Given the description of an element on the screen output the (x, y) to click on. 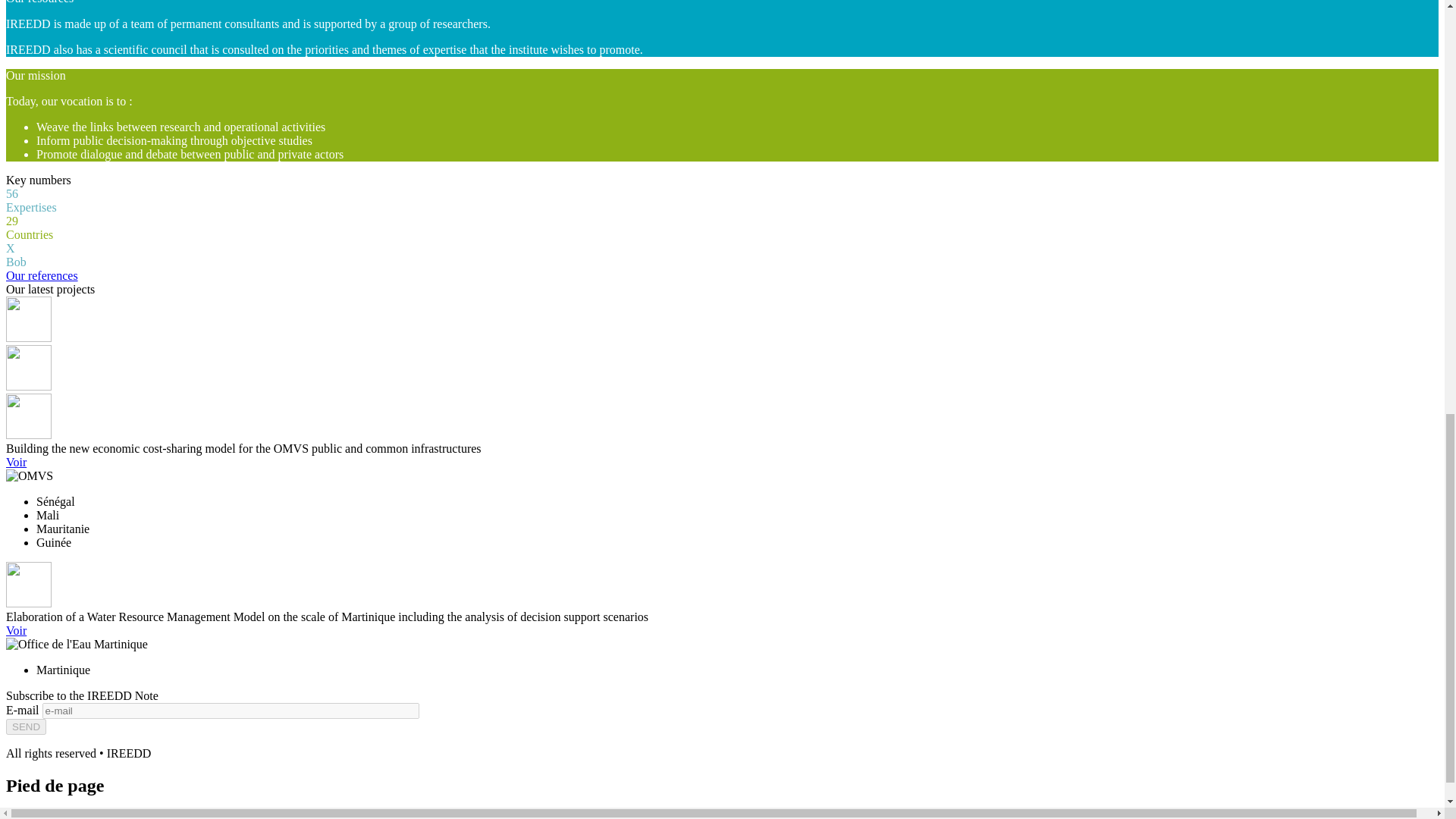
SEND (25, 726)
Voir (15, 461)
Our references (41, 275)
Voir (15, 630)
SEND (25, 726)
